Given the description of an element on the screen output the (x, y) to click on. 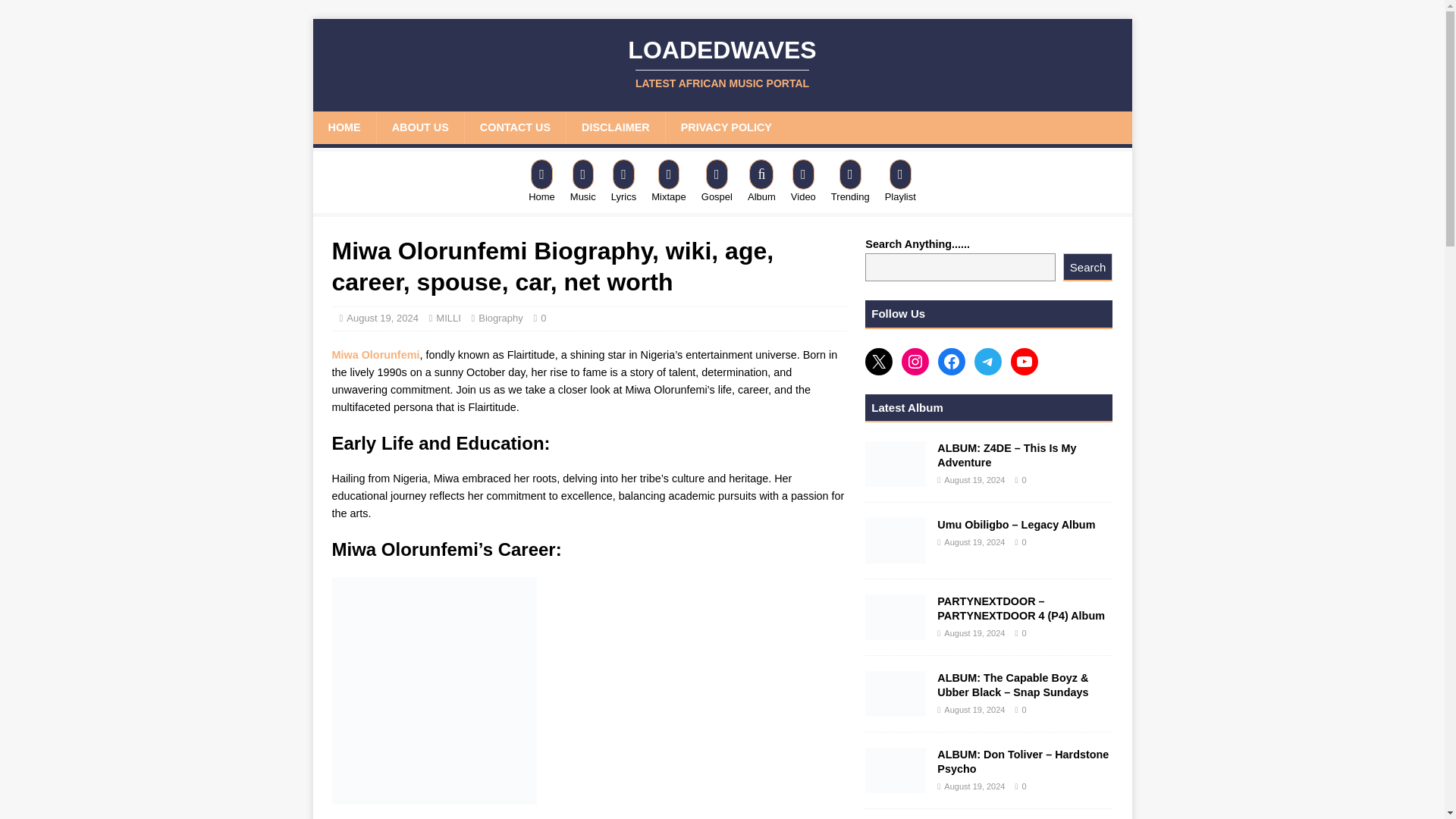
DISCLAIMER (615, 127)
Biography (500, 317)
PRIVACY POLICY (726, 127)
Umu Obiligbo - Legacy Album (895, 540)
August 19, 2024 (382, 317)
Loadedwaves (721, 63)
MILLI (448, 317)
HOME (344, 127)
